Given the description of an element on the screen output the (x, y) to click on. 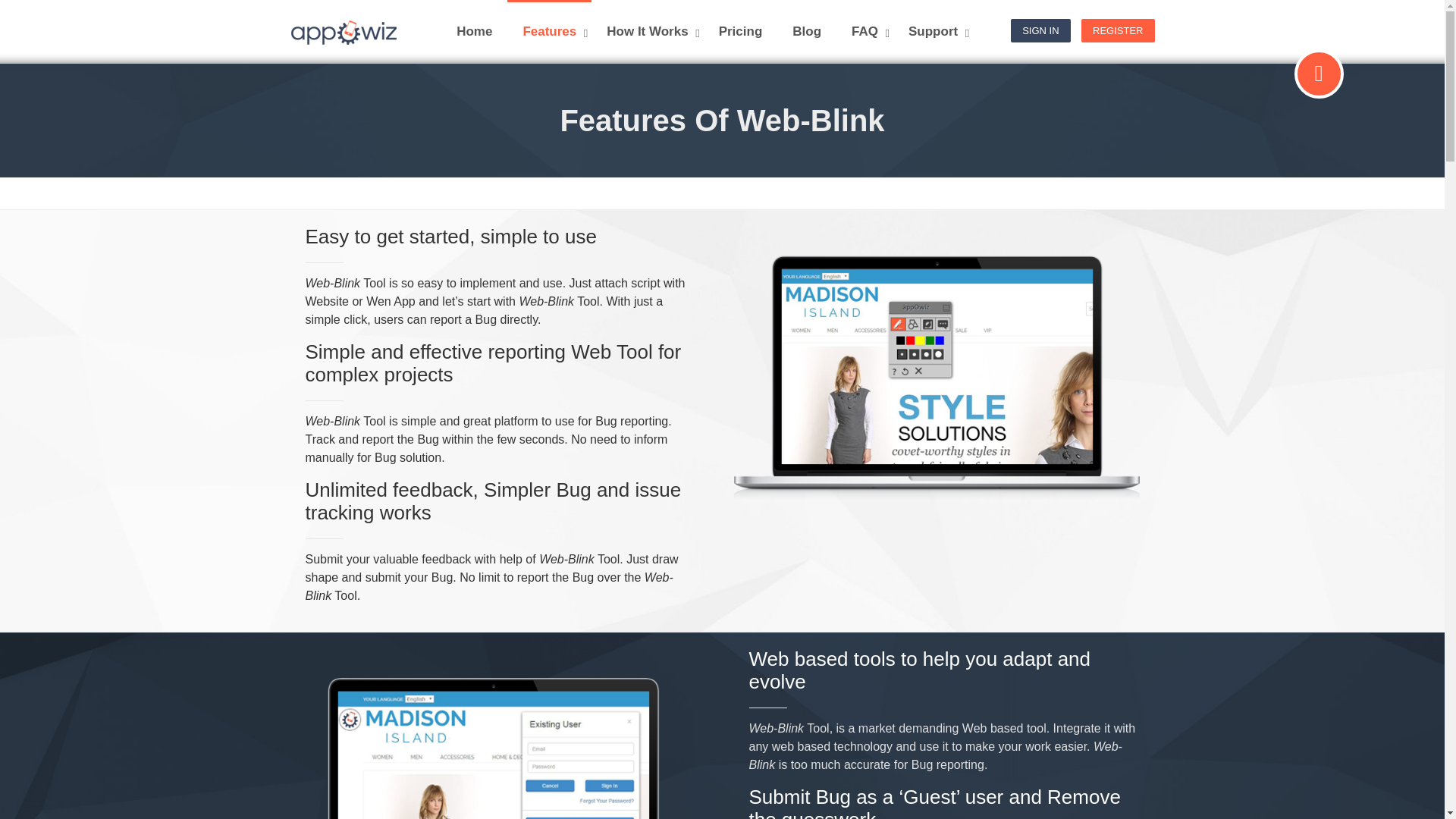
SIGN IN (1040, 30)
Pricing (740, 31)
How It Works (647, 31)
How It Works (647, 31)
Home (473, 31)
REGISTER (1117, 30)
Home (473, 31)
Pricing (740, 31)
appOwiz-Bug Tracking and Feedback Tool (342, 32)
Features (548, 31)
